Given the description of an element on the screen output the (x, y) to click on. 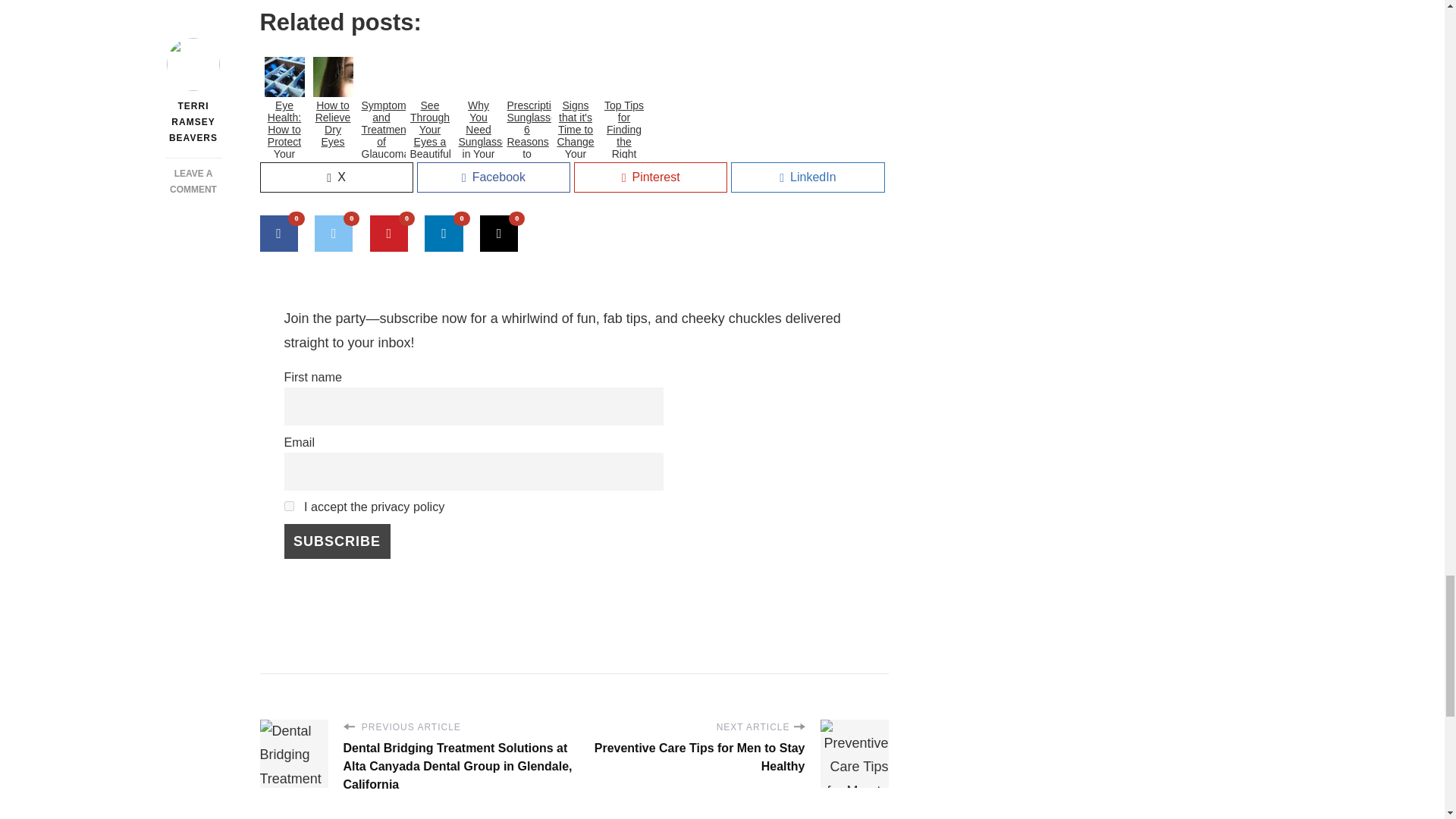
Subscribe (336, 541)
on (288, 506)
